Given the description of an element on the screen output the (x, y) to click on. 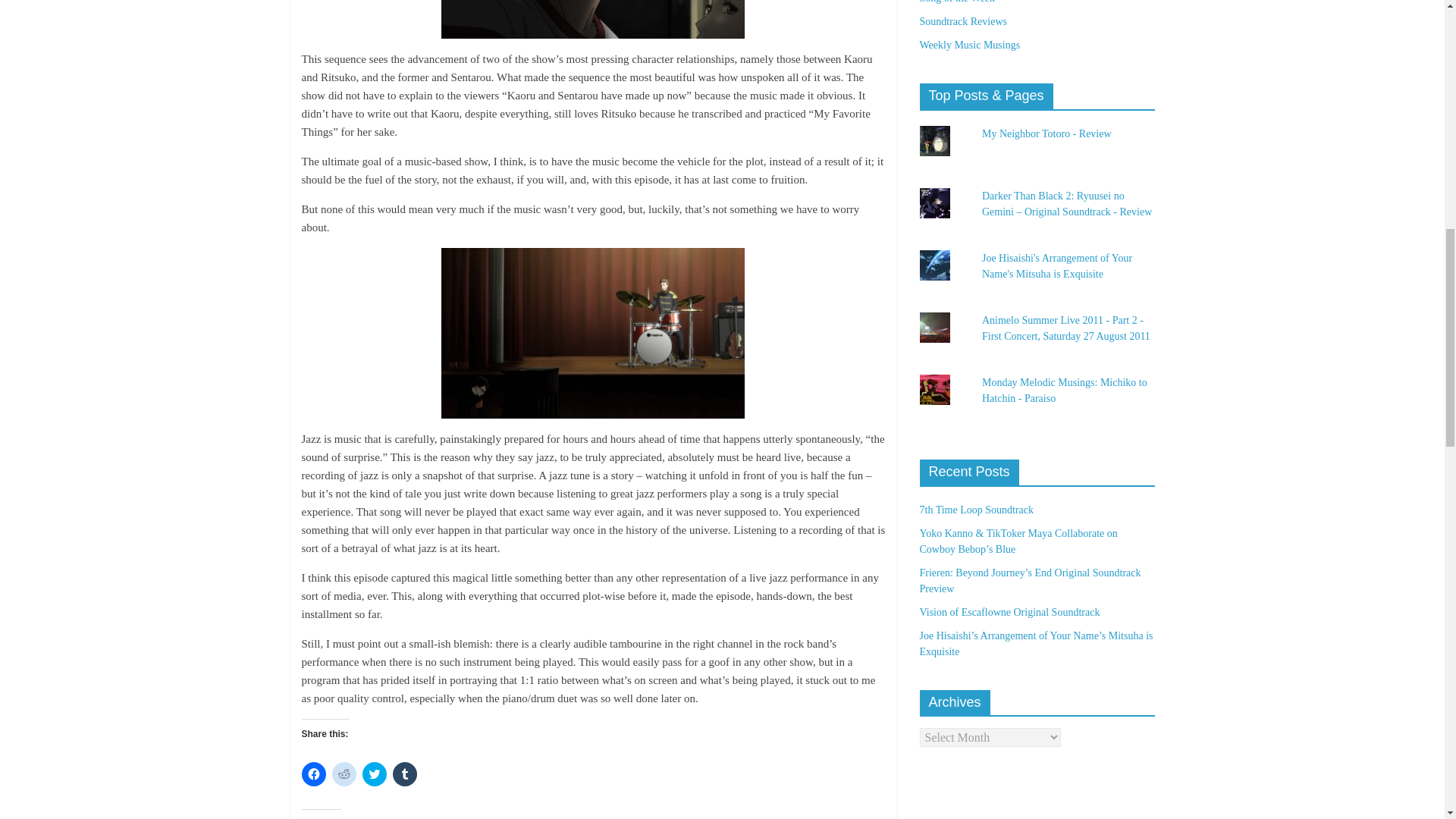
Click to share on Tumblr (404, 774)
Click to share on Facebook (313, 774)
Click to share on Twitter (374, 774)
Click to share on Reddit (343, 774)
